Given the description of an element on the screen output the (x, y) to click on. 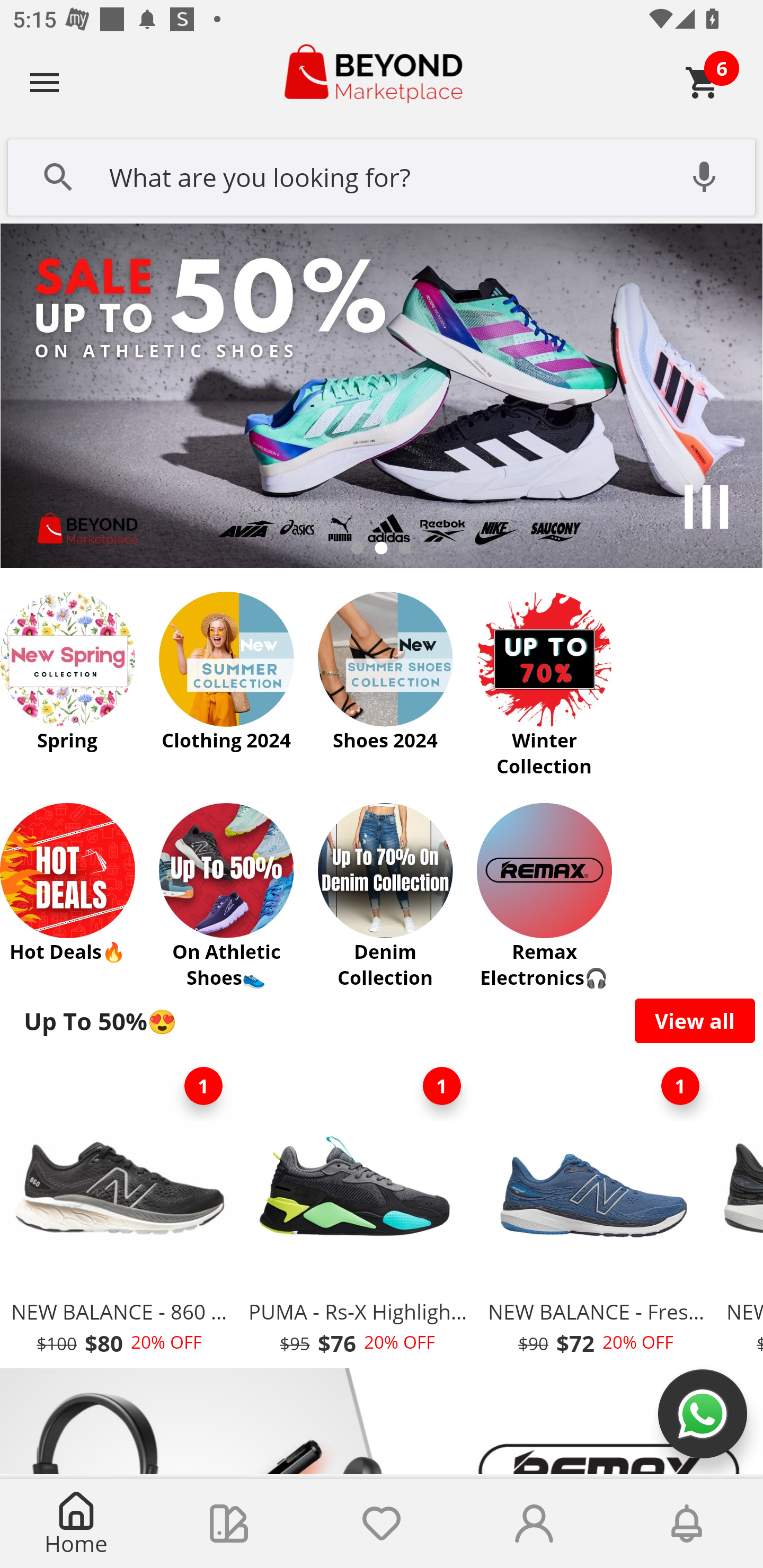
Navigate up (44, 82)
What are you looking for? (381, 175)
View all (694, 1020)
1 NEW BALANCE - 860 Running Shoes $100 $80 20% OFF (119, 1209)
1 (203, 1085)
1 (441, 1085)
1 (680, 1085)
Collections (228, 1523)
Wishlist (381, 1523)
Account (533, 1523)
Notifications (686, 1523)
